Given the description of an element on the screen output the (x, y) to click on. 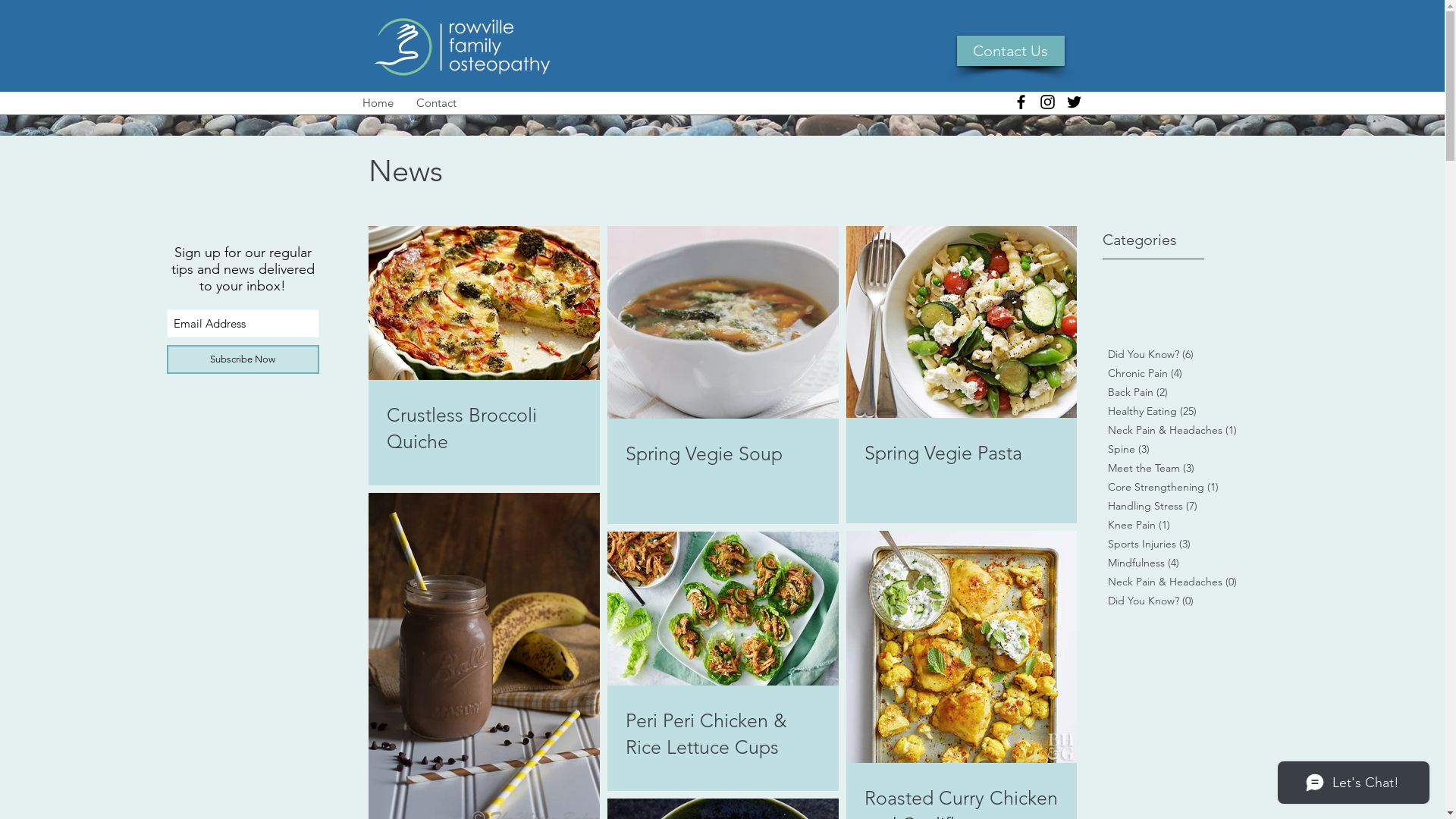
Did You Know? (6) Element type: text (1180, 354)
Spring Vegie Pasta Element type: text (961, 452)
Neck Pain & Headaches (0) Element type: text (1180, 581)
Home Element type: text (377, 102)
Contact Element type: text (435, 102)
Did You Know? (0) Element type: text (1180, 600)
Spring Vegie Soup Element type: text (721, 453)
Crustless Broccoli Quiche Element type: text (483, 428)
Meet the Team (3) Element type: text (1180, 467)
Core Strengthening (1) Element type: text (1180, 486)
Sports Injuries (3) Element type: text (1180, 543)
Neck Pain & Headaches (1) Element type: text (1180, 429)
Contact Us Element type: text (1010, 50)
Handling Stress (7) Element type: text (1180, 505)
Spine (3) Element type: text (1180, 448)
Mindfulness (4) Element type: text (1180, 562)
Back Pain (2) Element type: text (1180, 391)
Knee Pain (1) Element type: text (1180, 524)
Peri Peri Chicken & Rice Lettuce Cups Element type: text (721, 733)
Healthy Eating (25) Element type: text (1180, 410)
Chronic Pain (4) Element type: text (1180, 373)
Subscribe Now Element type: text (242, 359)
